Given the description of an element on the screen output the (x, y) to click on. 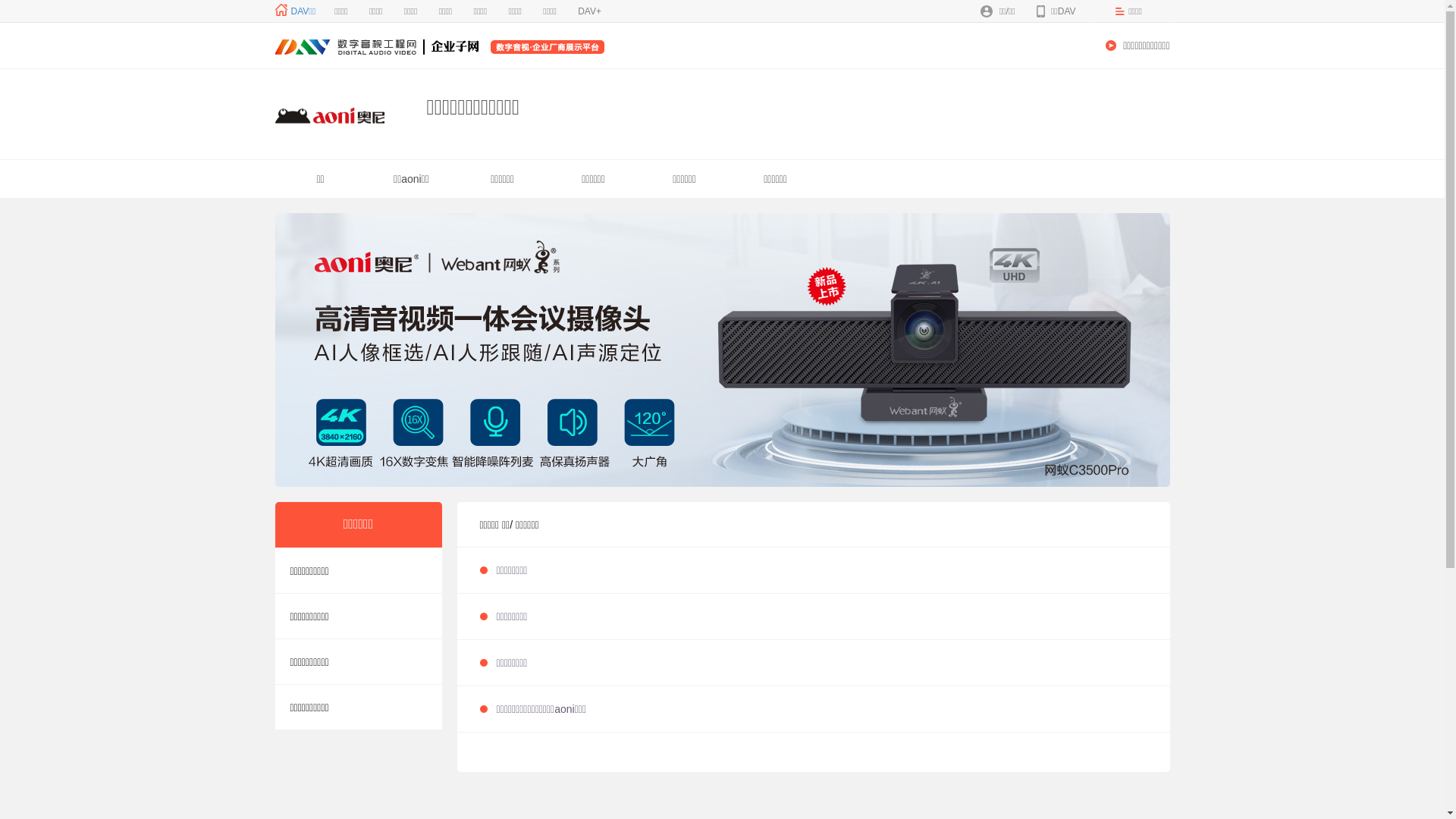
DAV+ Element type: text (589, 11)
